Given the description of an element on the screen output the (x, y) to click on. 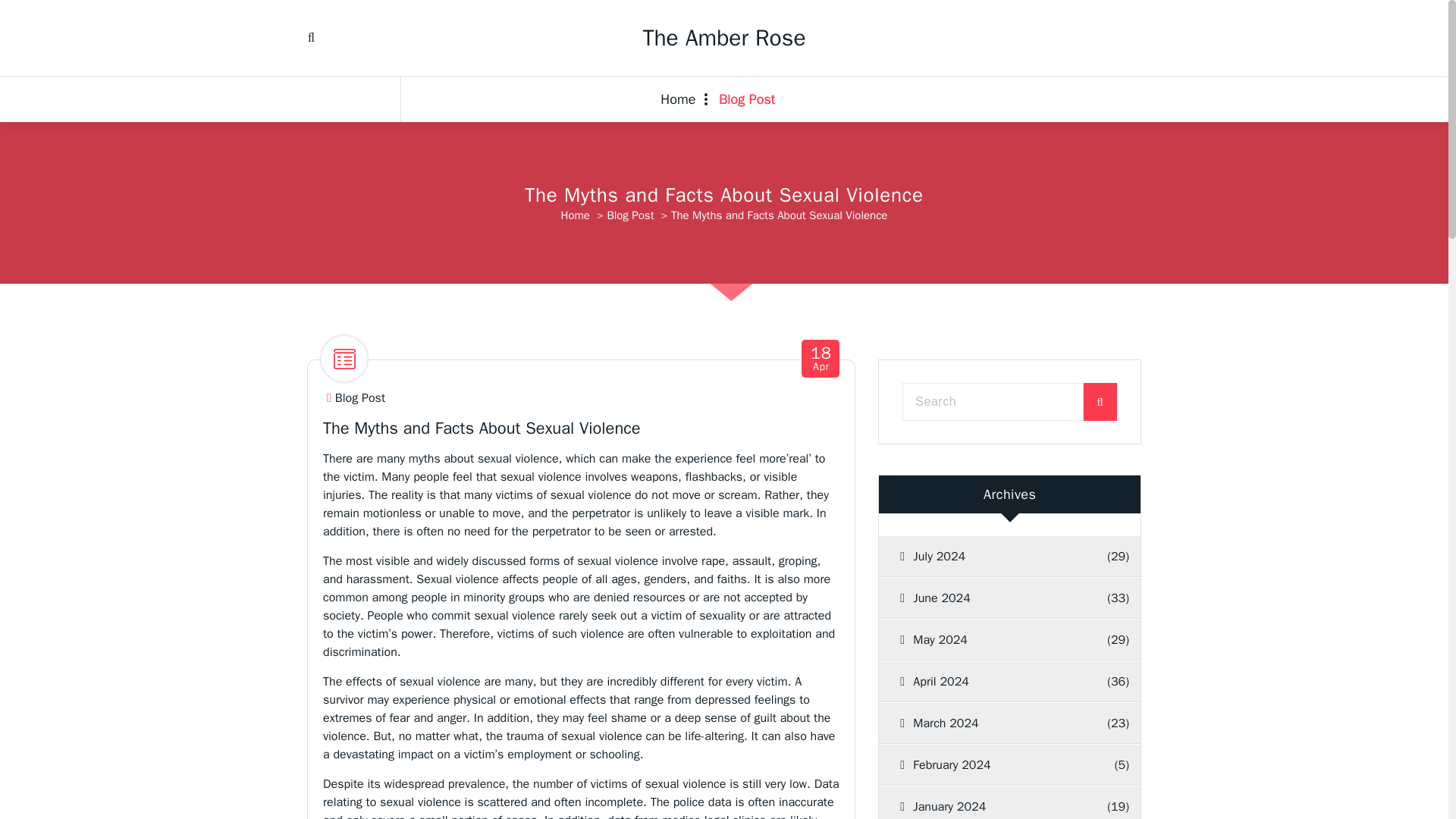
May 2024 (991, 639)
Blog Post (746, 99)
April 2024 (991, 680)
February 2024 (994, 764)
Home (684, 99)
Blog Post (359, 398)
March 2024 (820, 358)
Blog Post (991, 722)
The Amber Rose (746, 99)
January 2024 (723, 37)
June 2024 (991, 802)
Home (991, 598)
July 2024 (574, 214)
Home (991, 556)
